Given the description of an element on the screen output the (x, y) to click on. 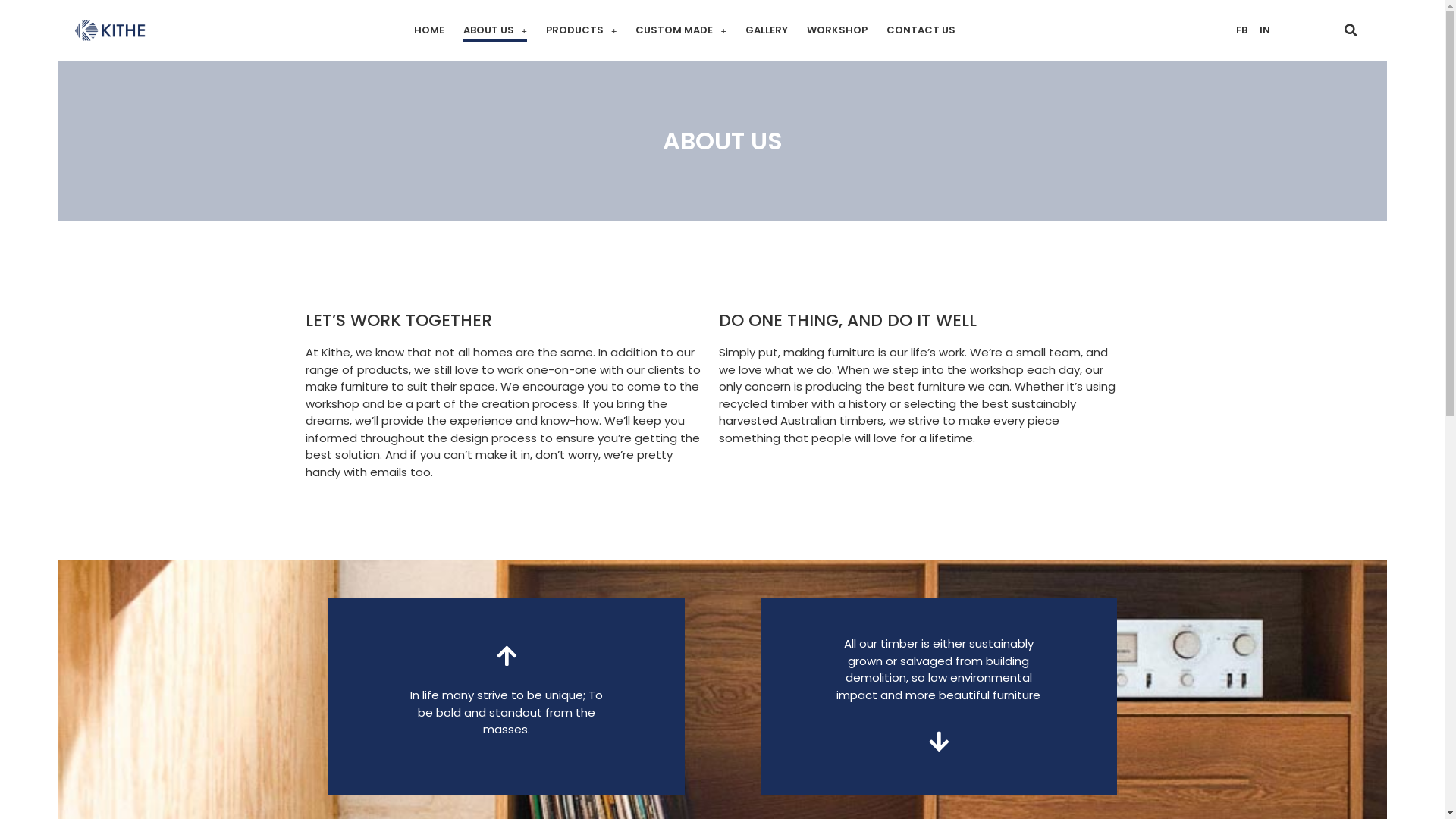
CONTACT US Element type: text (920, 29)
WORKSHOP Element type: text (836, 29)
IN Element type: text (1264, 29)
GALLERY Element type: text (766, 29)
ABOUT US Element type: text (495, 29)
FB Element type: text (1241, 29)
PRODUCTS Element type: text (581, 29)
CUSTOM MADE Element type: text (680, 29)
HOME Element type: text (429, 29)
